Given the description of an element on the screen output the (x, y) to click on. 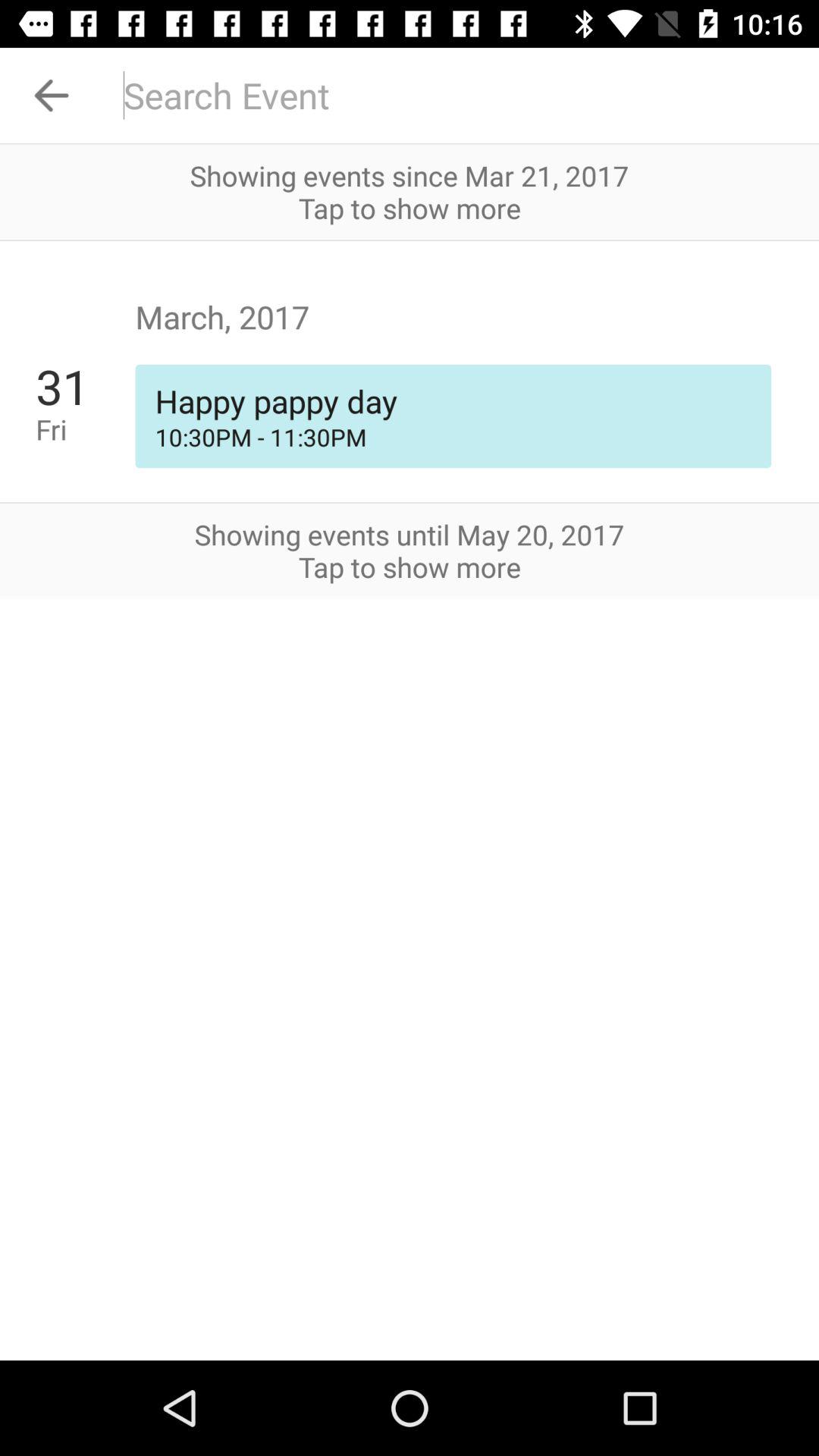
select the fri item (85, 429)
